Given the description of an element on the screen output the (x, y) to click on. 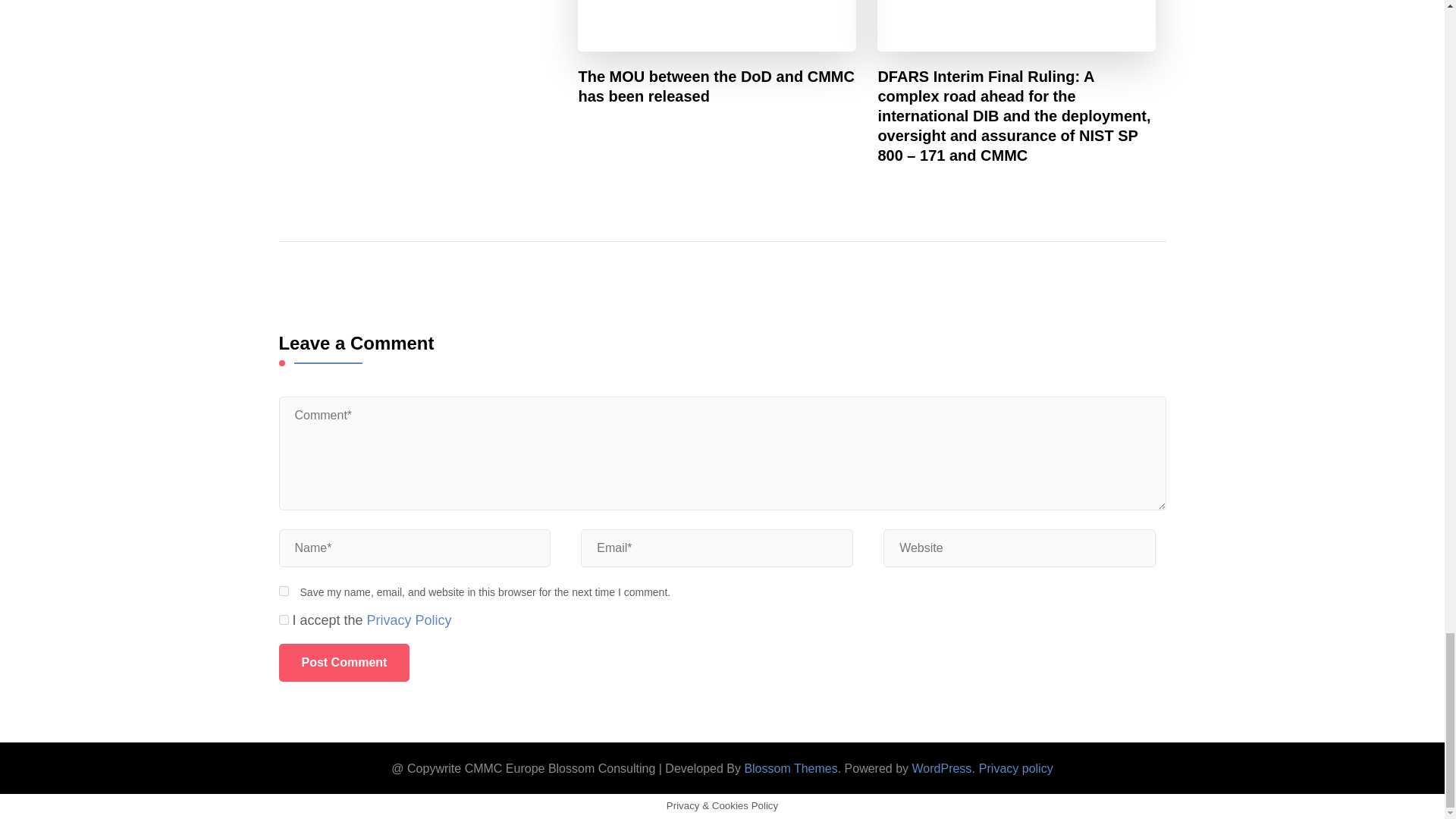
1 (283, 619)
yes (283, 591)
Post Comment (344, 662)
